Given the description of an element on the screen output the (x, y) to click on. 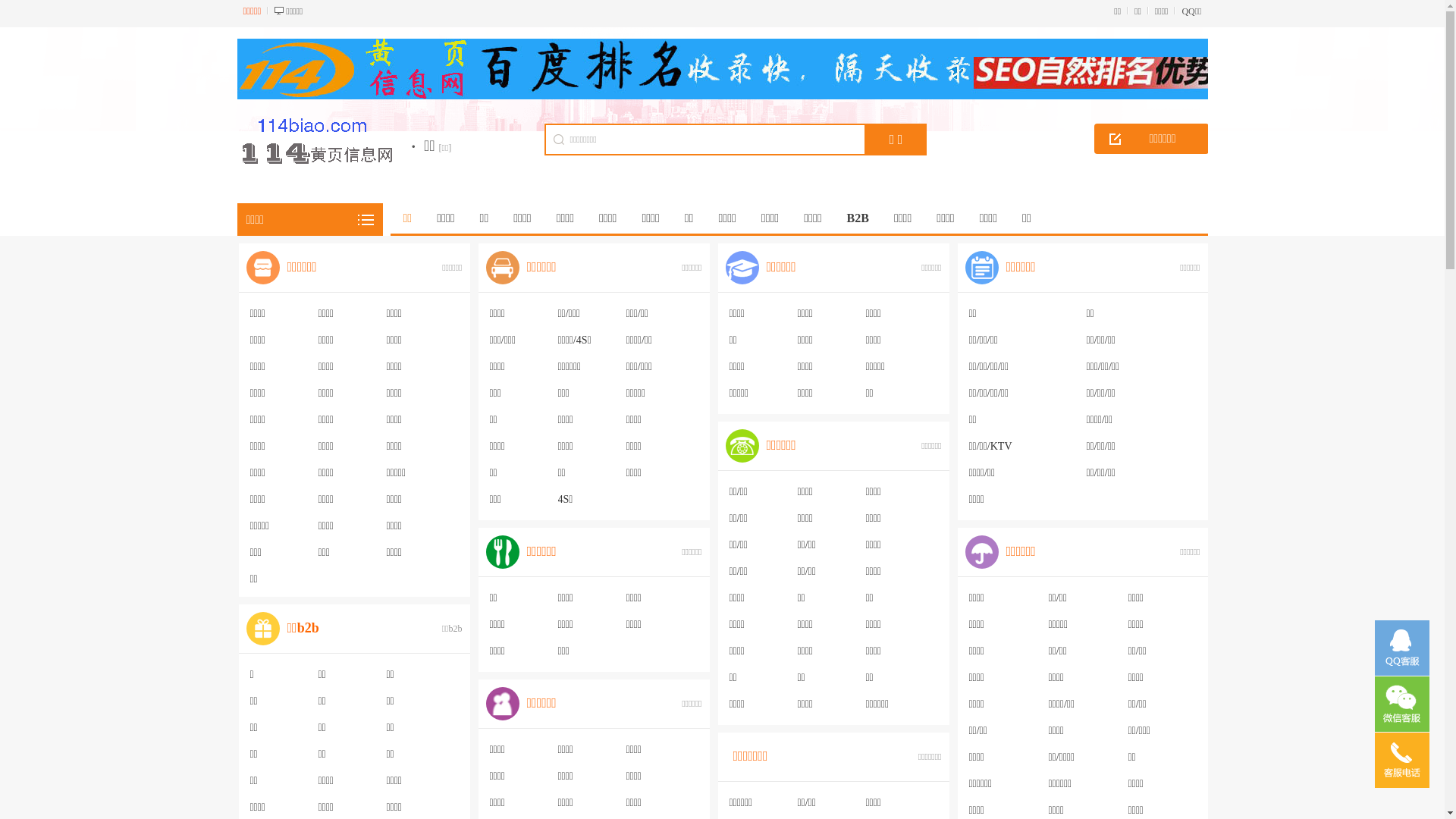
B2B Element type: text (857, 218)
b2b Element type: hover (262, 628)
